Given the description of an element on the screen output the (x, y) to click on. 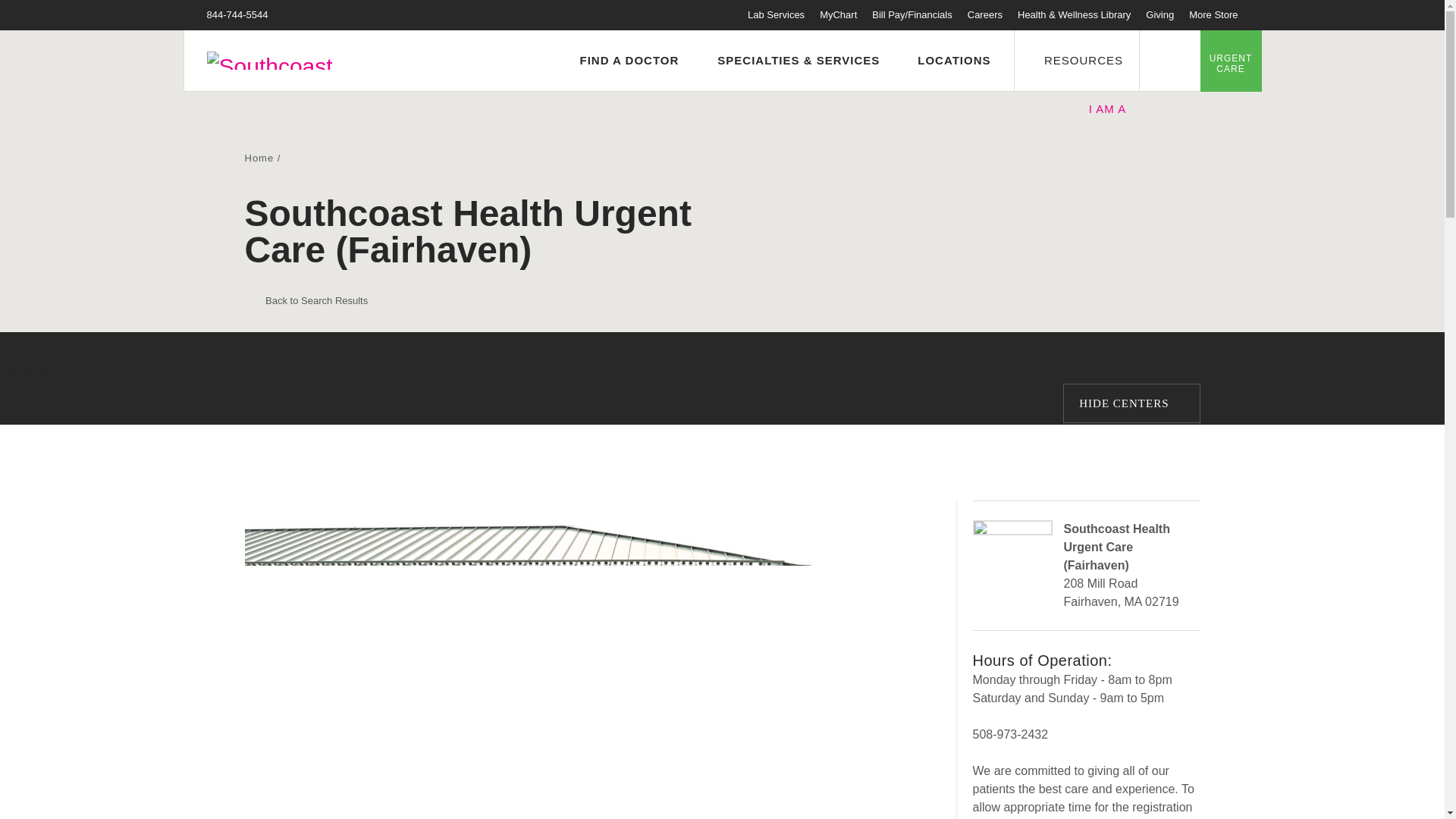
Careers (985, 14)
LOCATIONS (946, 60)
More Store (1213, 14)
MyChart (838, 14)
URGENT CARE (1229, 60)
Giving (1159, 14)
RESOURCES (1075, 60)
Lab Services (776, 14)
Search (1168, 60)
FIND A DOCTOR (622, 60)
